Given the description of an element on the screen output the (x, y) to click on. 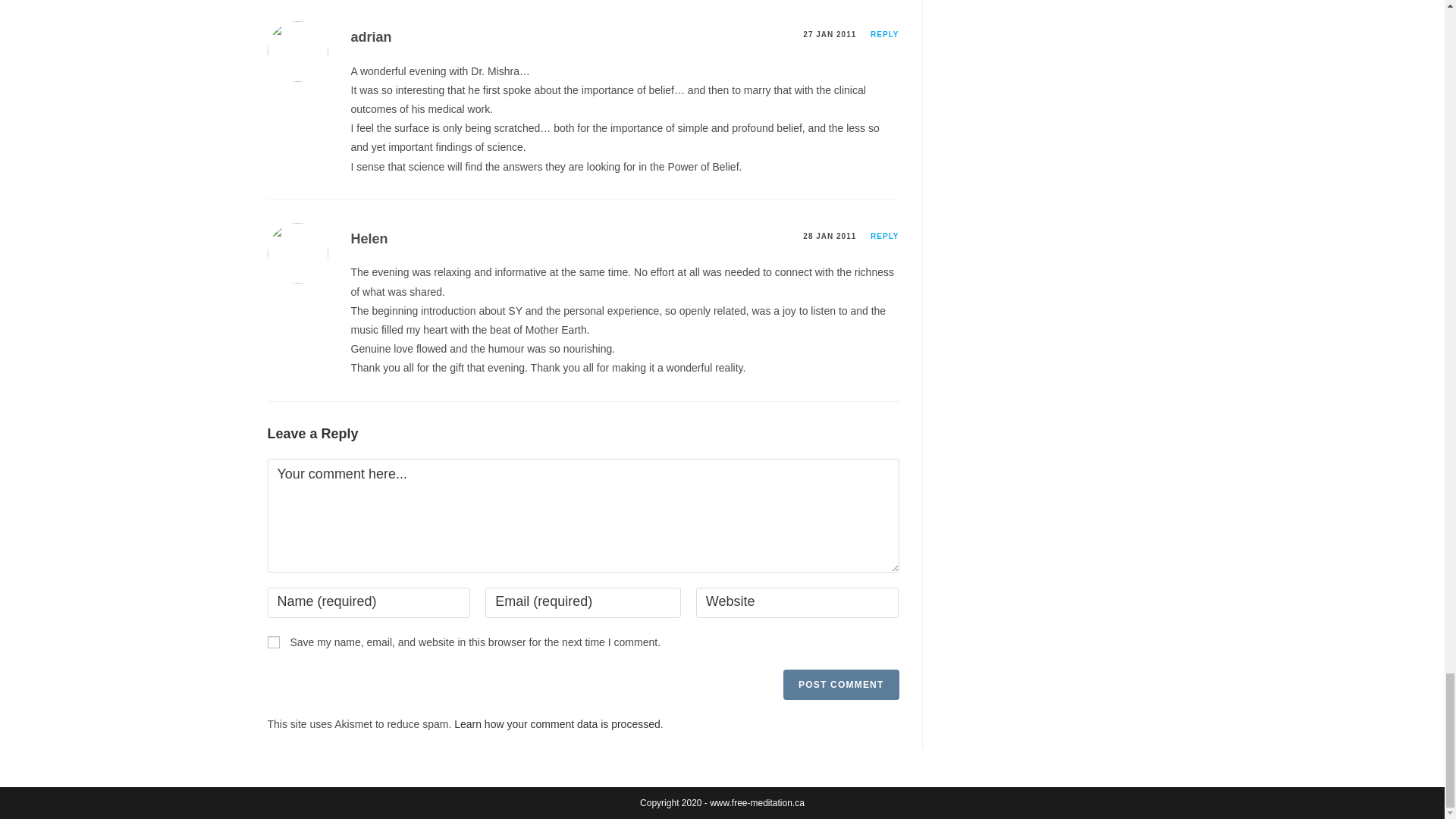
Post Comment (840, 684)
yes (272, 642)
